Given the description of an element on the screen output the (x, y) to click on. 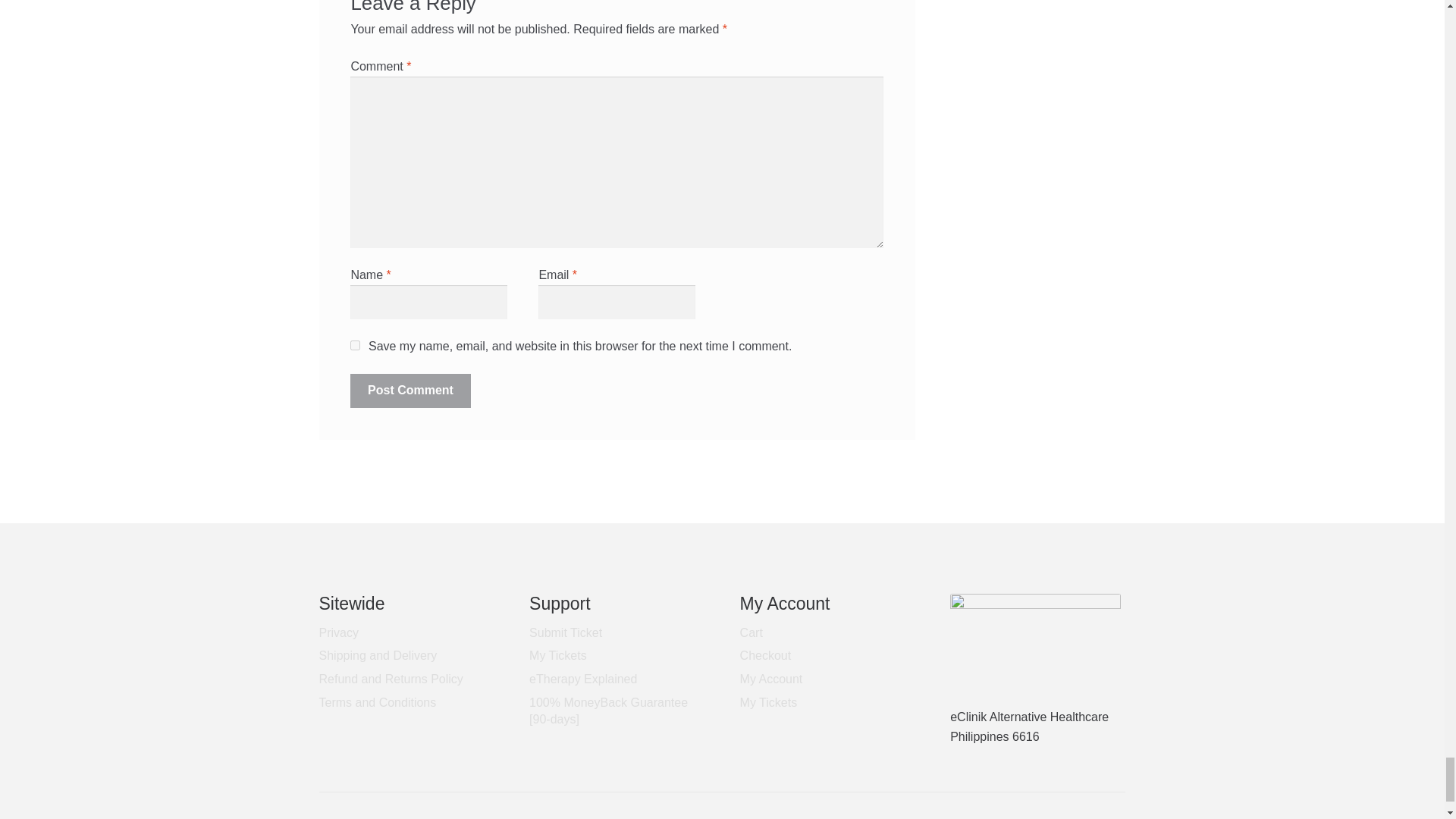
yes (354, 345)
Post Comment (410, 390)
